Given the description of an element on the screen output the (x, y) to click on. 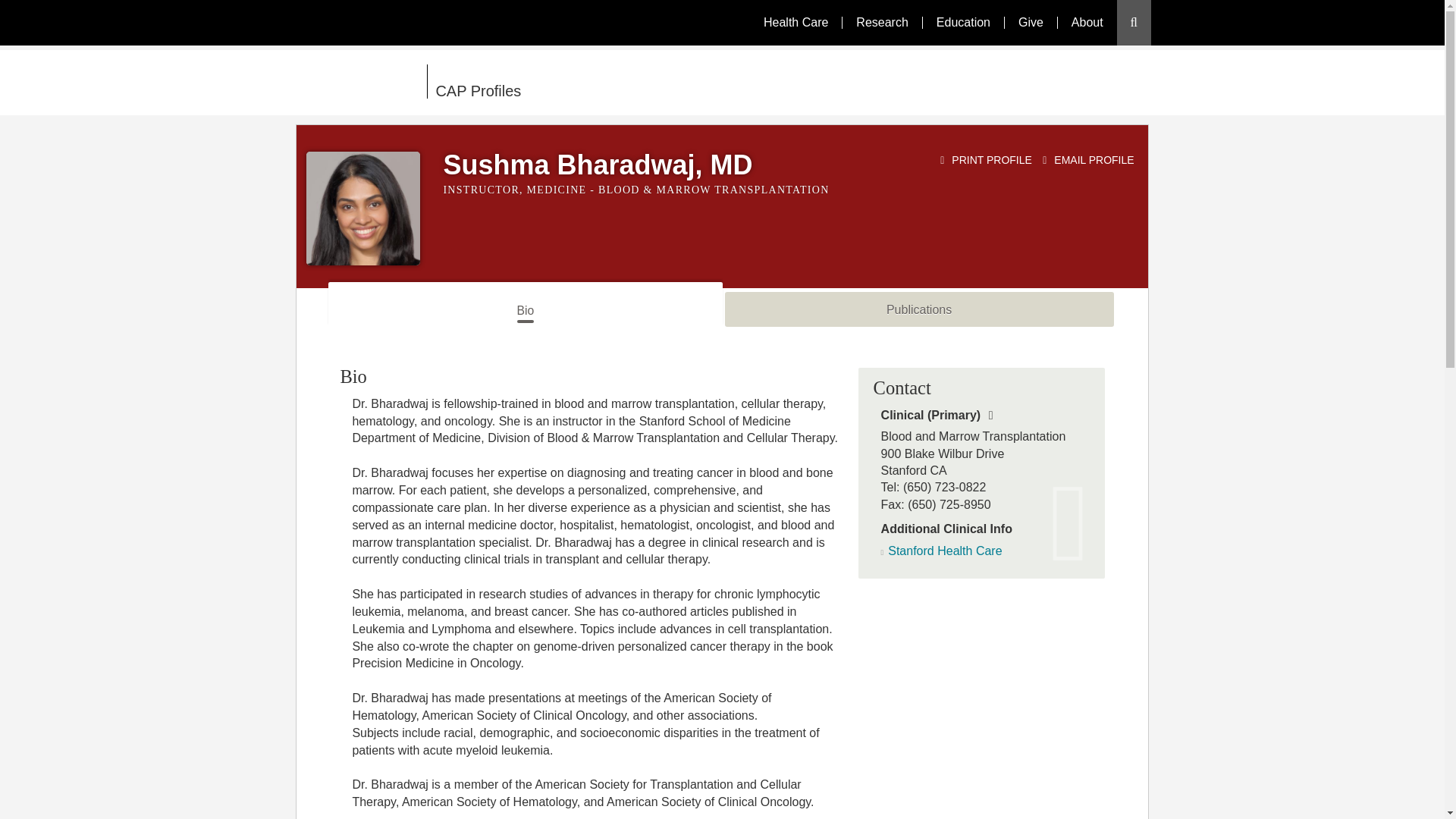
Stanford Medicine (361, 81)
Research (881, 22)
Health Care (795, 22)
CAP Profiles (616, 81)
